Given the description of an element on the screen output the (x, y) to click on. 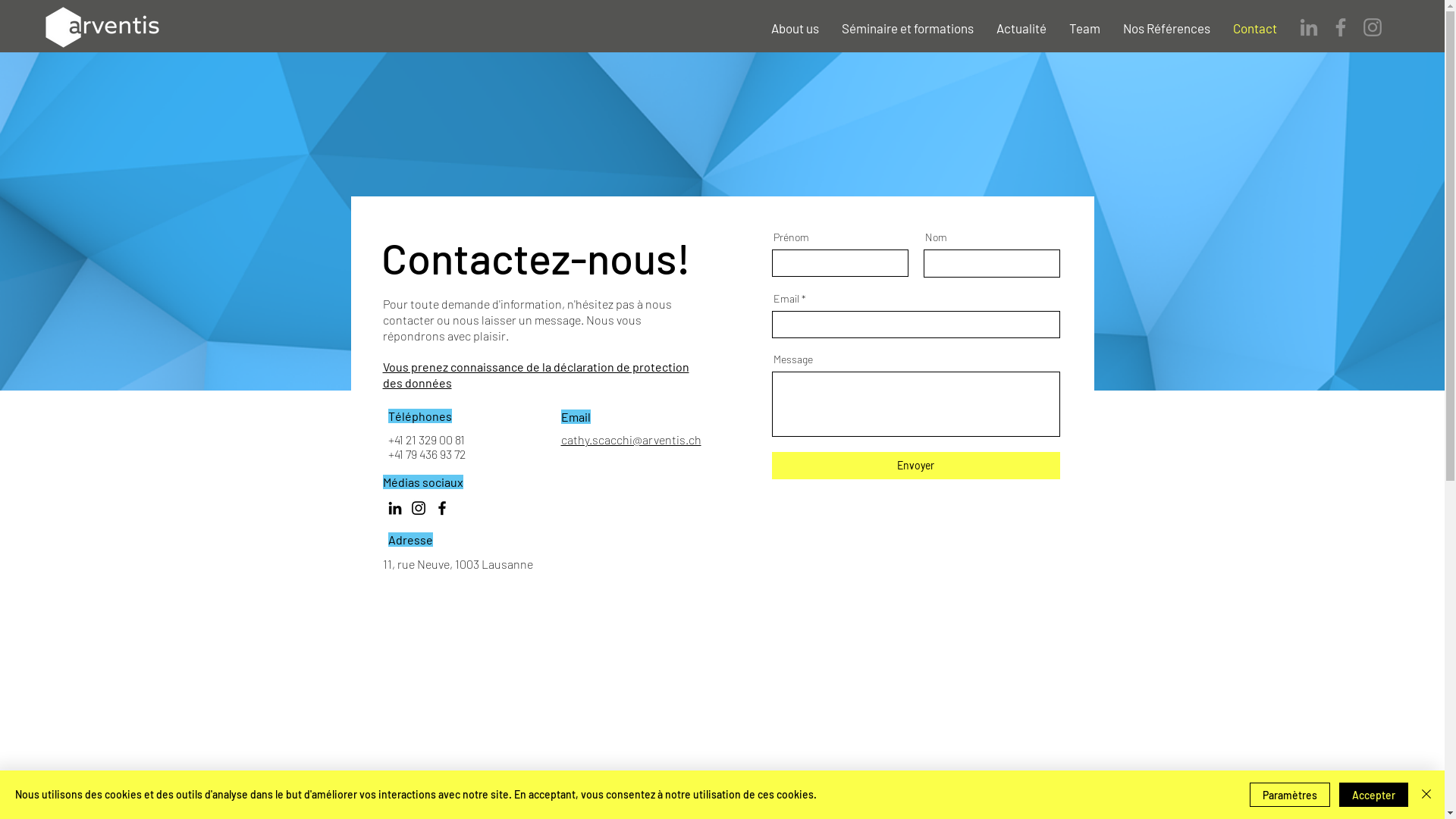
cathy.scacchi@arventis.ch Element type: text (631, 439)
Team Element type: text (1084, 27)
Contact Element type: text (1254, 27)
About us Element type: text (794, 27)
Accepter Element type: text (1373, 794)
Envoyer Element type: text (915, 465)
